Given the description of an element on the screen output the (x, y) to click on. 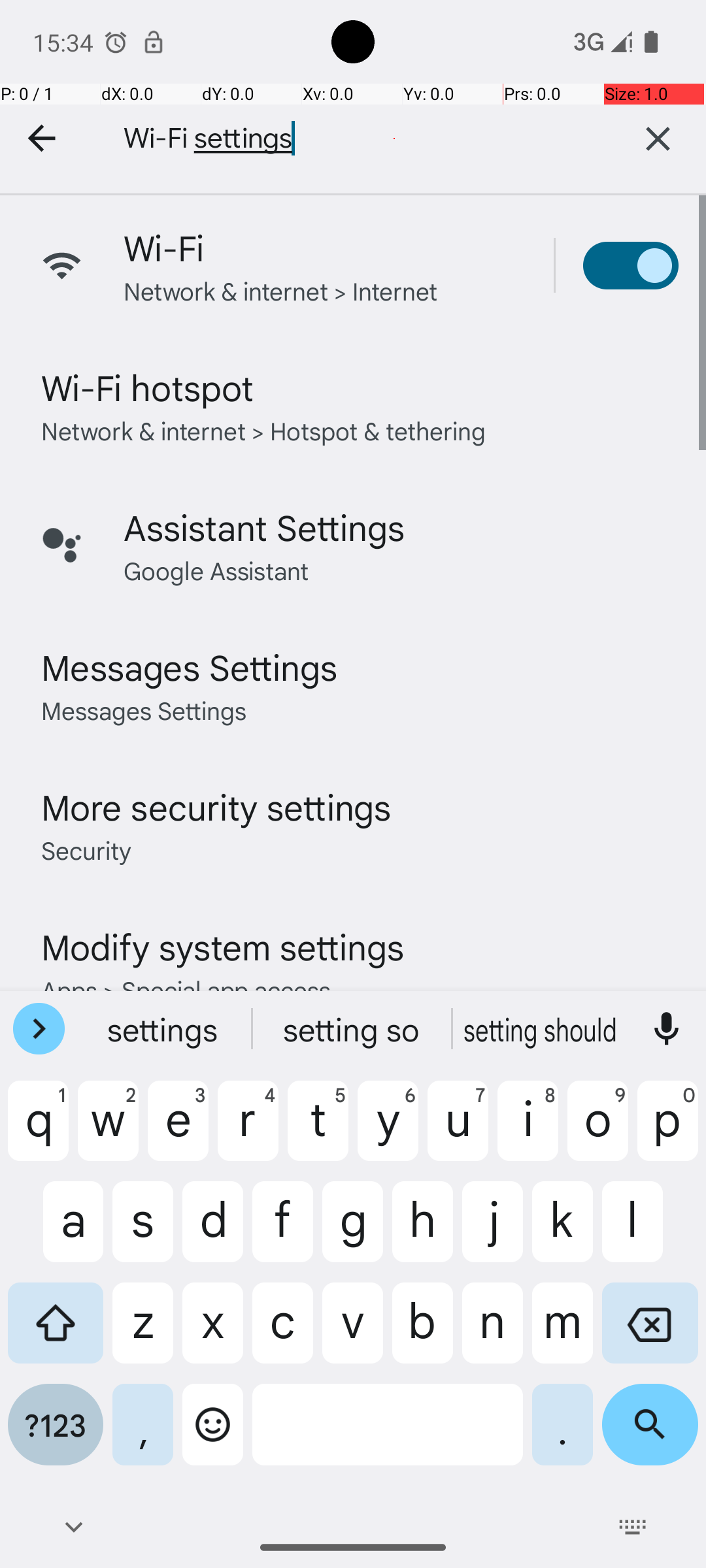
Wi-Fi settings Element type: android.widget.EditText (345, 138)
Network & internet > Internet Element type: android.widget.TextView (280, 289)
Wi-Fi hotspot Element type: android.widget.TextView (147, 386)
Network & internet > Hotspot & tethering Element type: android.widget.TextView (263, 429)
Assistant Settings Element type: android.widget.TextView (263, 526)
Google Assistant Element type: android.widget.TextView (215, 569)
Messages Settings Element type: android.widget.TextView (189, 666)
Modify system settings Element type: android.widget.TextView (222, 945)
Apps > Special app access Element type: android.widget.TextView (185, 988)
settings Element type: android.widget.FrameLayout (163, 1028)
setting so Element type: android.widget.FrameLayout (352, 1028)
setting should Element type: android.widget.FrameLayout (541, 1028)
